Given the description of an element on the screen output the (x, y) to click on. 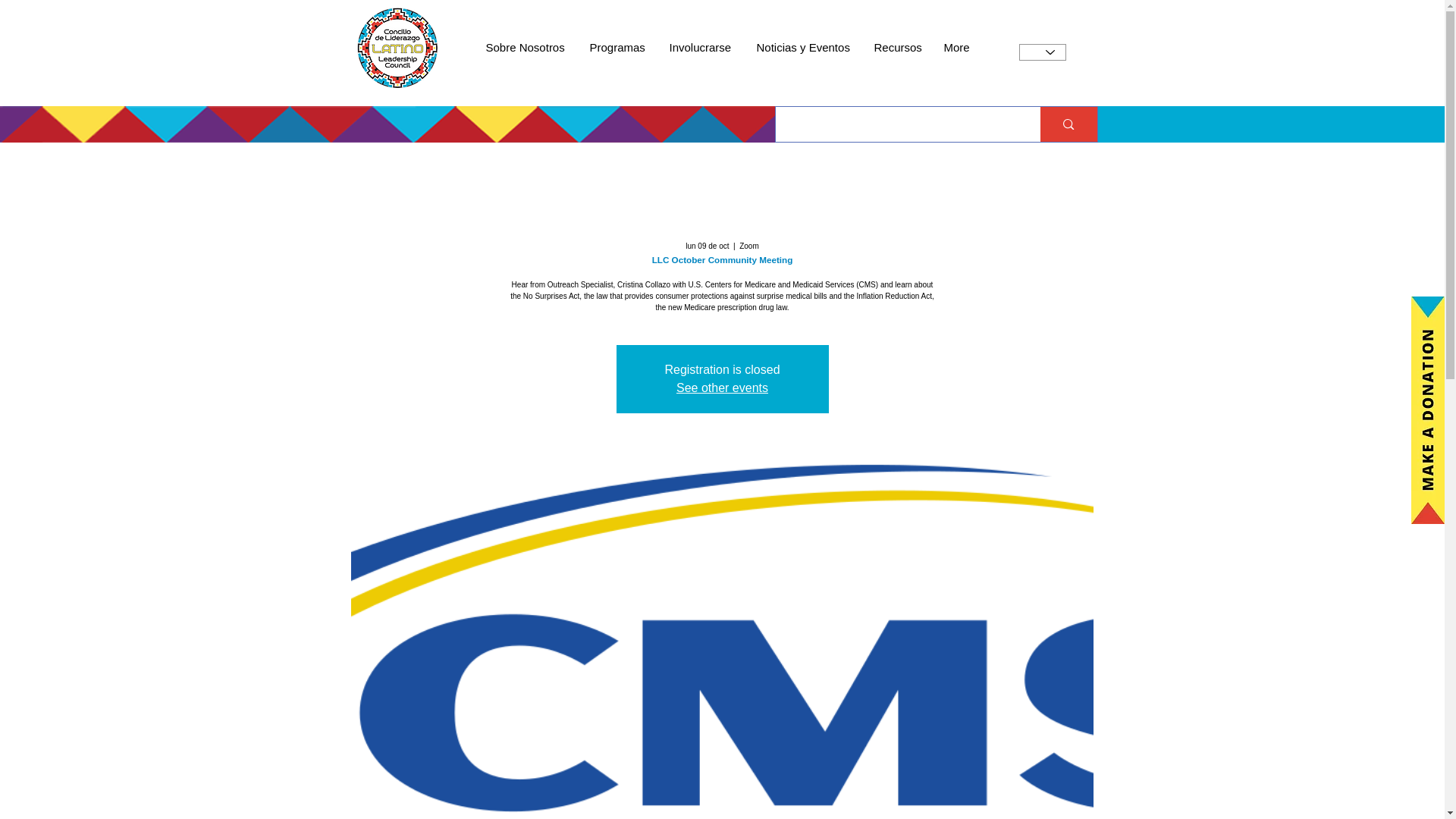
See other events (722, 387)
Noticias y Eventos (802, 47)
Sobre Nosotros (526, 47)
Embedded Content (759, 26)
Involucrarse (701, 47)
Recursos (898, 47)
Programas (618, 47)
